Given the description of an element on the screen output the (x, y) to click on. 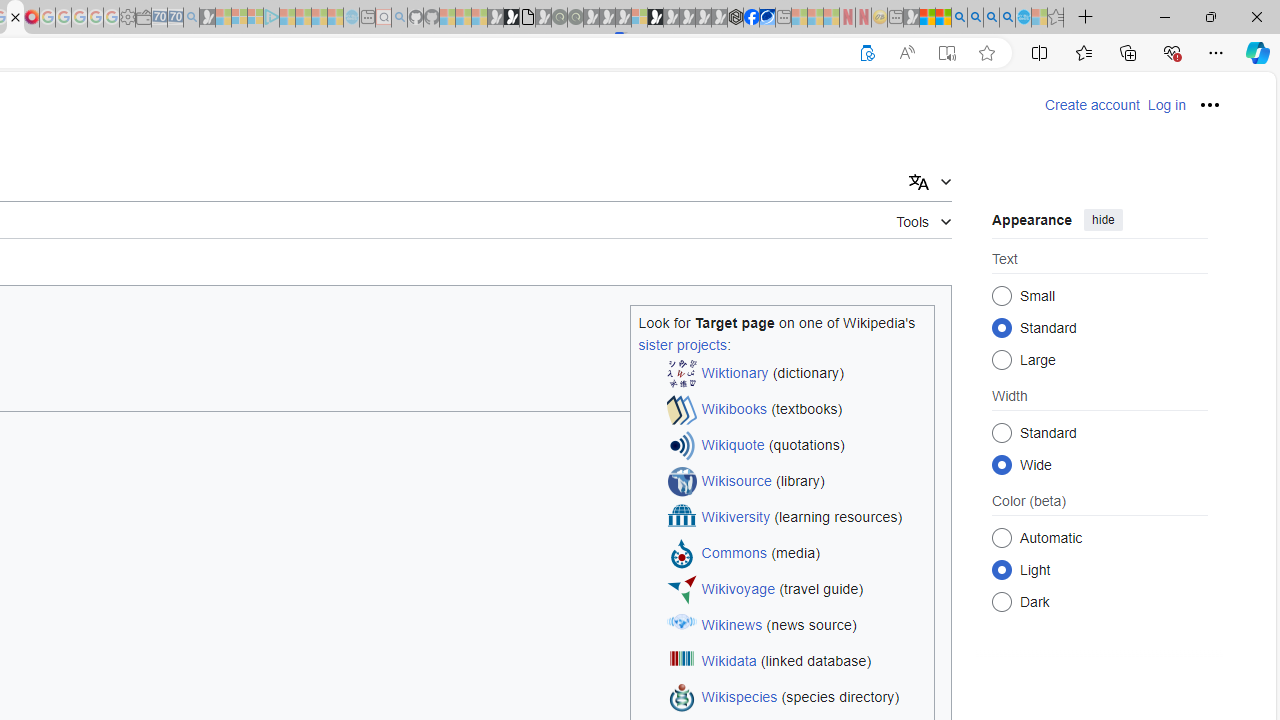
Log in (1166, 105)
Large (1002, 359)
Create account (1092, 105)
Nordace - Cooler Bags (735, 17)
Wikibooks (textbooks) (796, 410)
Services - Maintenance | Sky Blue Bikes - Sky Blue Bikes (1023, 17)
AirNow.gov (767, 17)
MediaWiki (31, 17)
Personal tools (1210, 104)
